Given the description of an element on the screen output the (x, y) to click on. 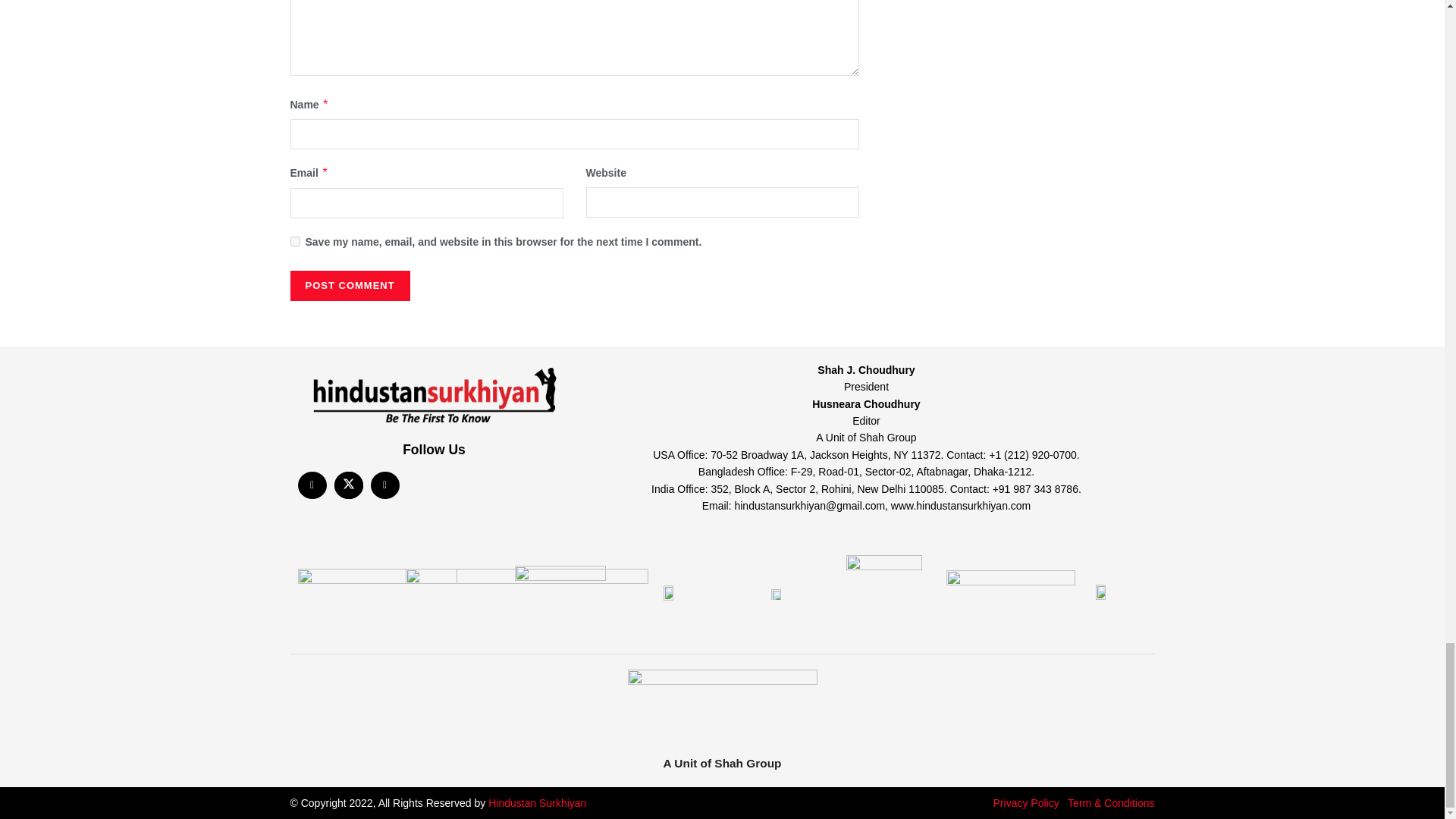
yes (294, 241)
Post Comment (349, 286)
